Given the description of an element on the screen output the (x, y) to click on. 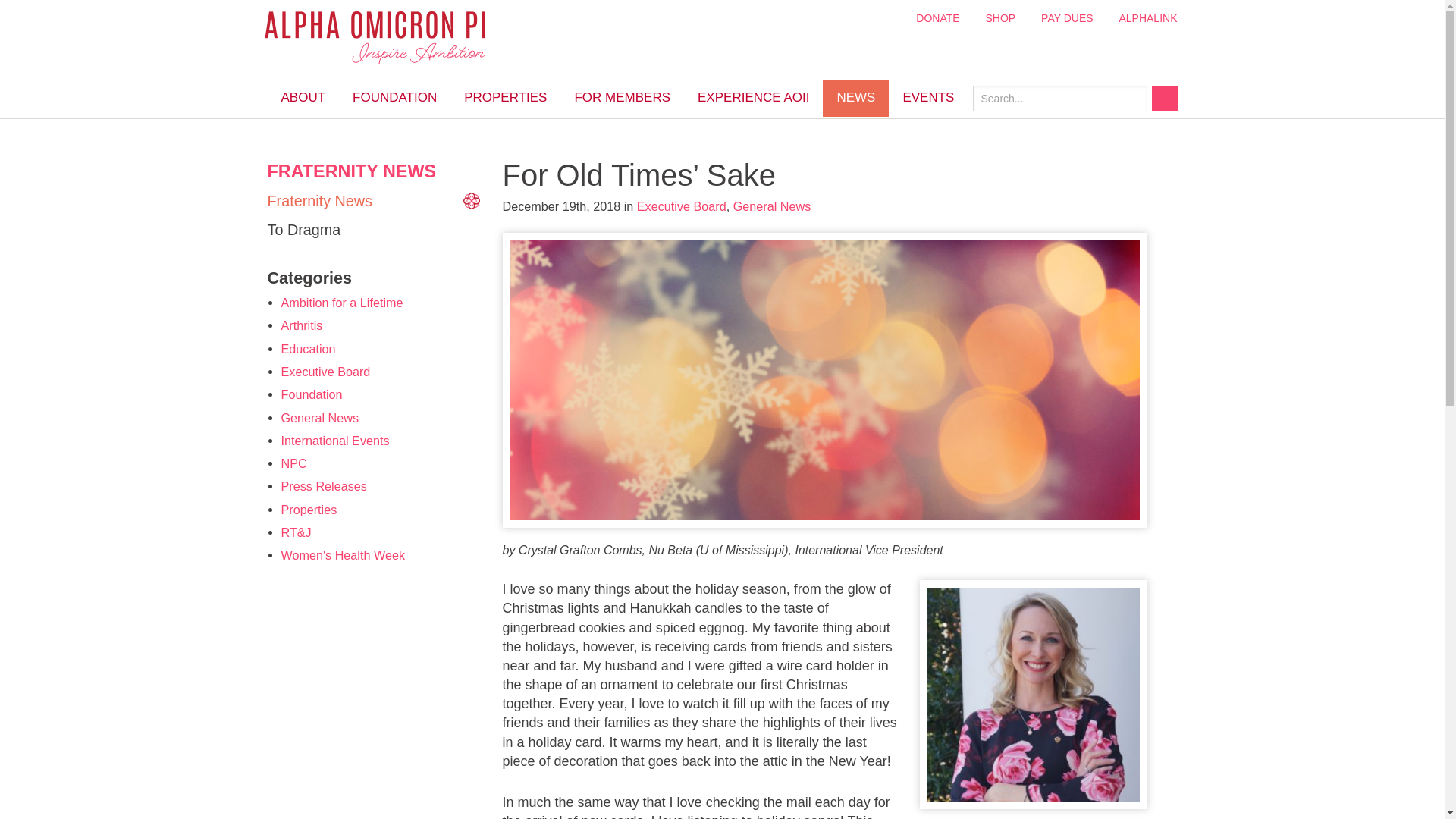
Search... (1059, 98)
